Given the description of an element on the screen output the (x, y) to click on. 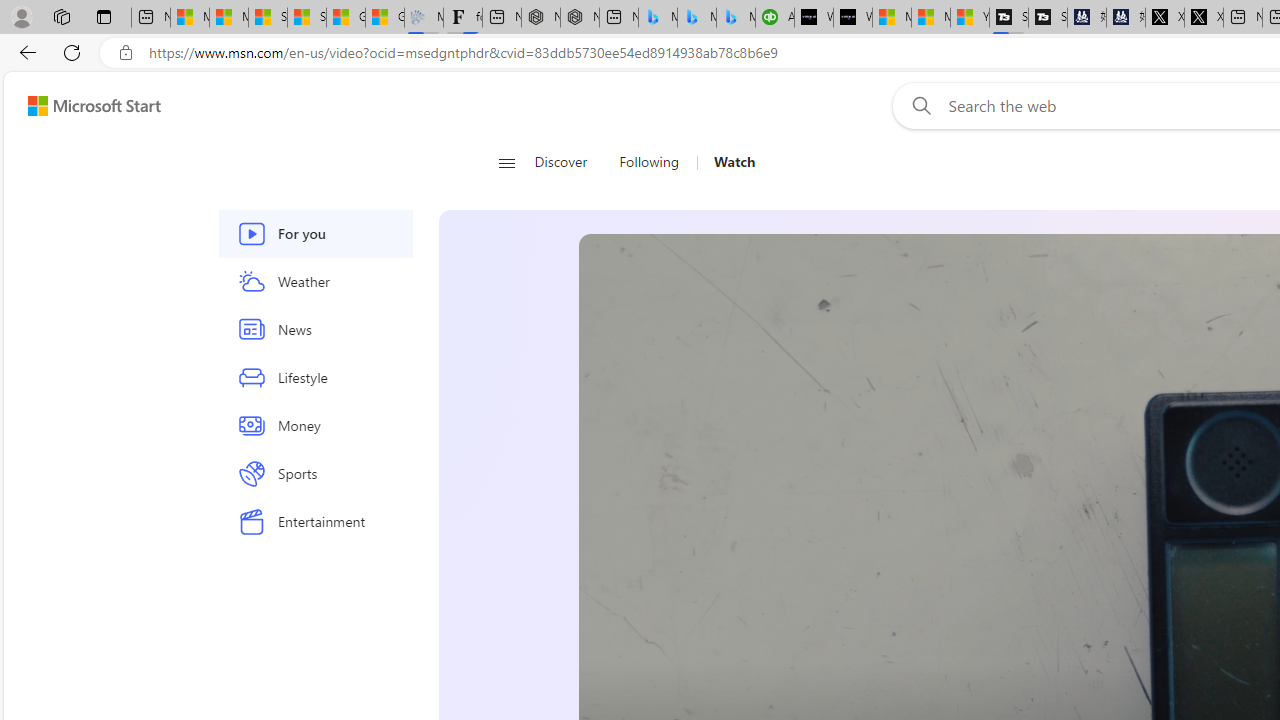
Microsoft Bing Travel - Stays in Bangkok, Bangkok, Thailand (696, 17)
Microsoft Bing Travel - Shangri-La Hotel Bangkok (735, 17)
